Given the description of an element on the screen output the (x, y) to click on. 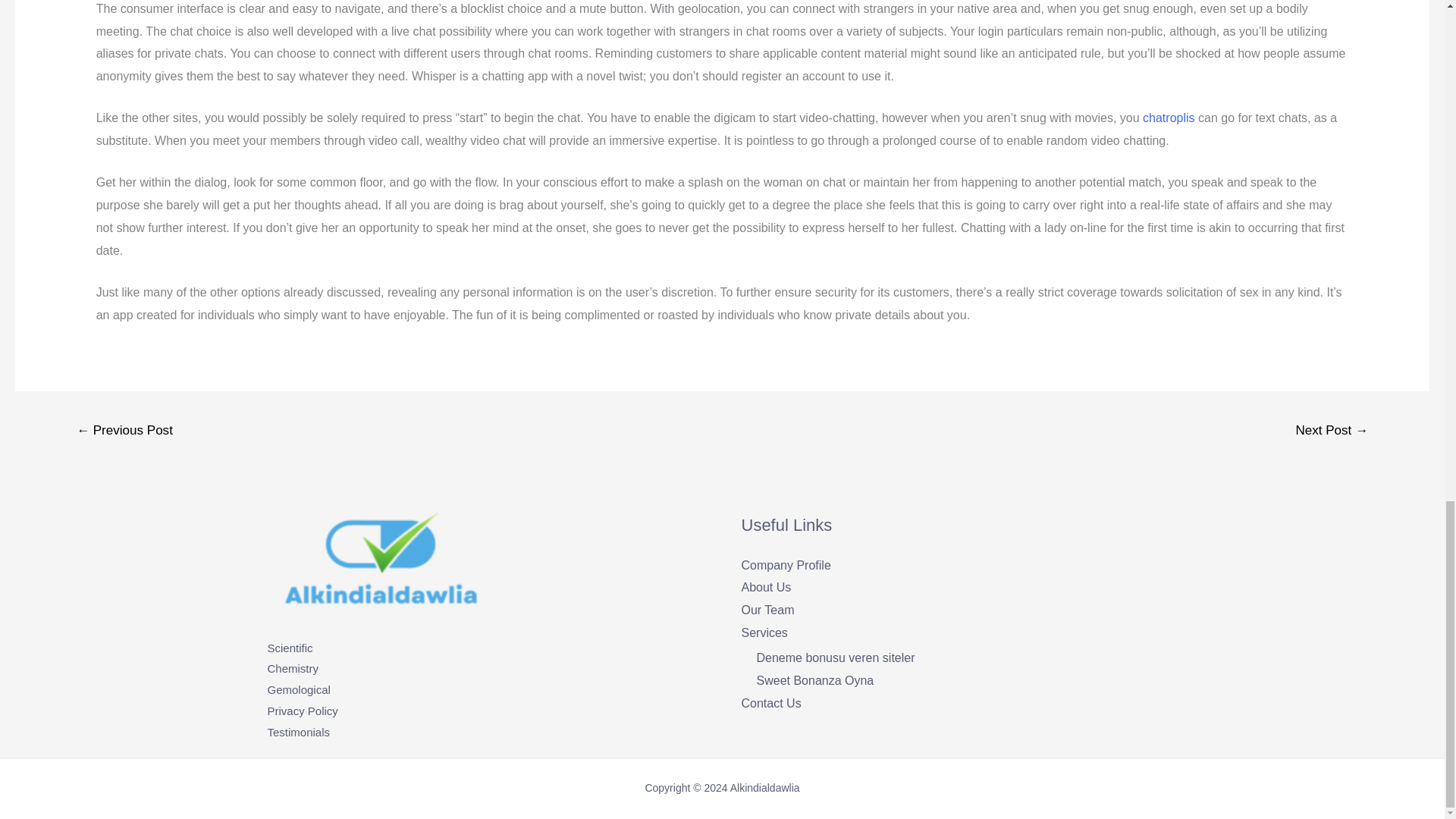
Company Profile (786, 564)
Deneme bonusu veren siteler (836, 657)
Gemological (298, 689)
Services (764, 632)
Testimonials (298, 731)
Chemistry (292, 667)
About Us (766, 586)
chatroplis (1167, 117)
Scientific (289, 647)
Our Team (767, 609)
